Given the description of an element on the screen output the (x, y) to click on. 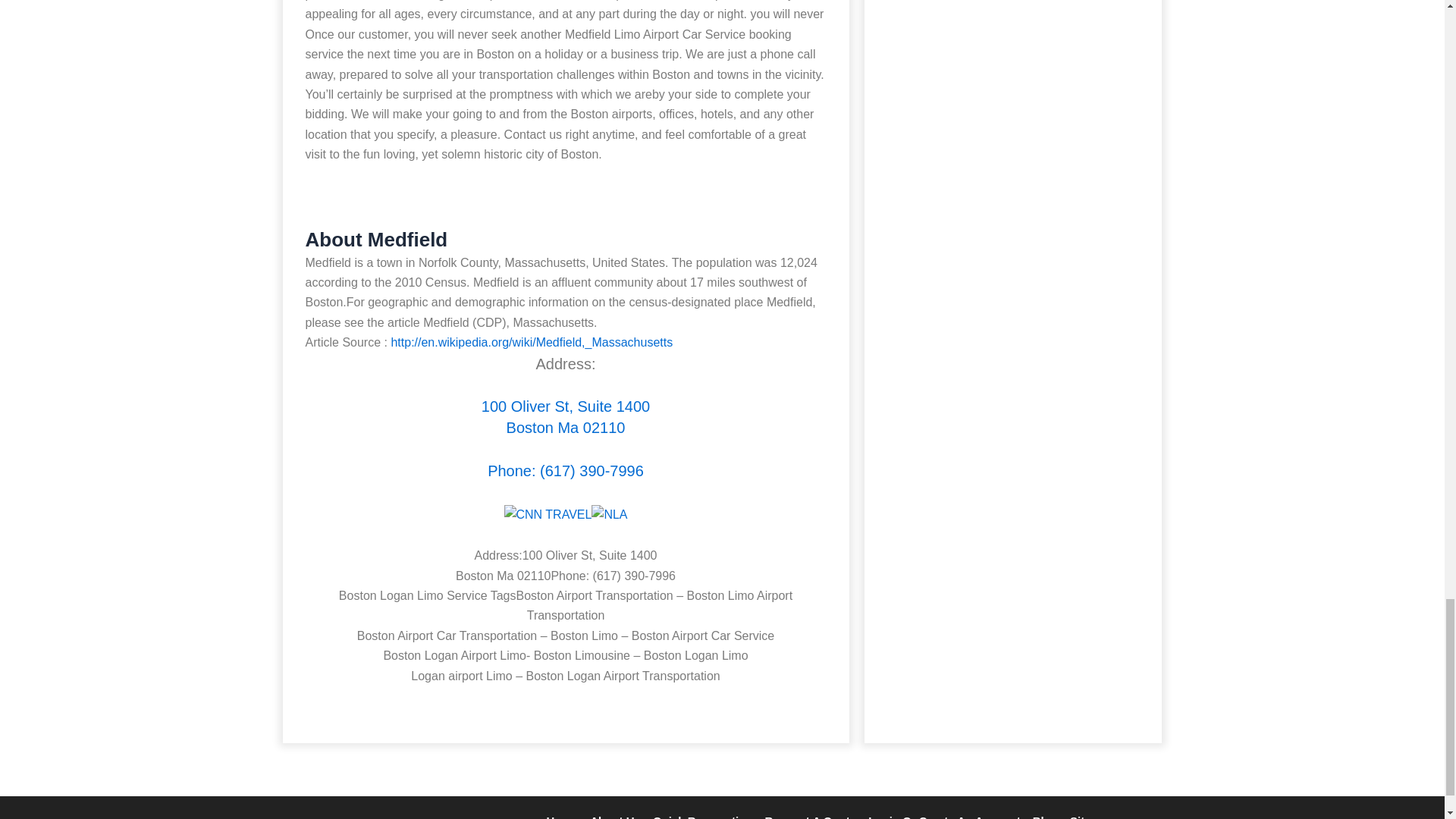
Boston Logan Limo Service (565, 472)
Medfield Limo Airport Car Service 4 (547, 514)
Boston Logan Limo Service (565, 417)
Medfield Limo Airport Car Service 5 (609, 514)
